Given the description of an element on the screen output the (x, y) to click on. 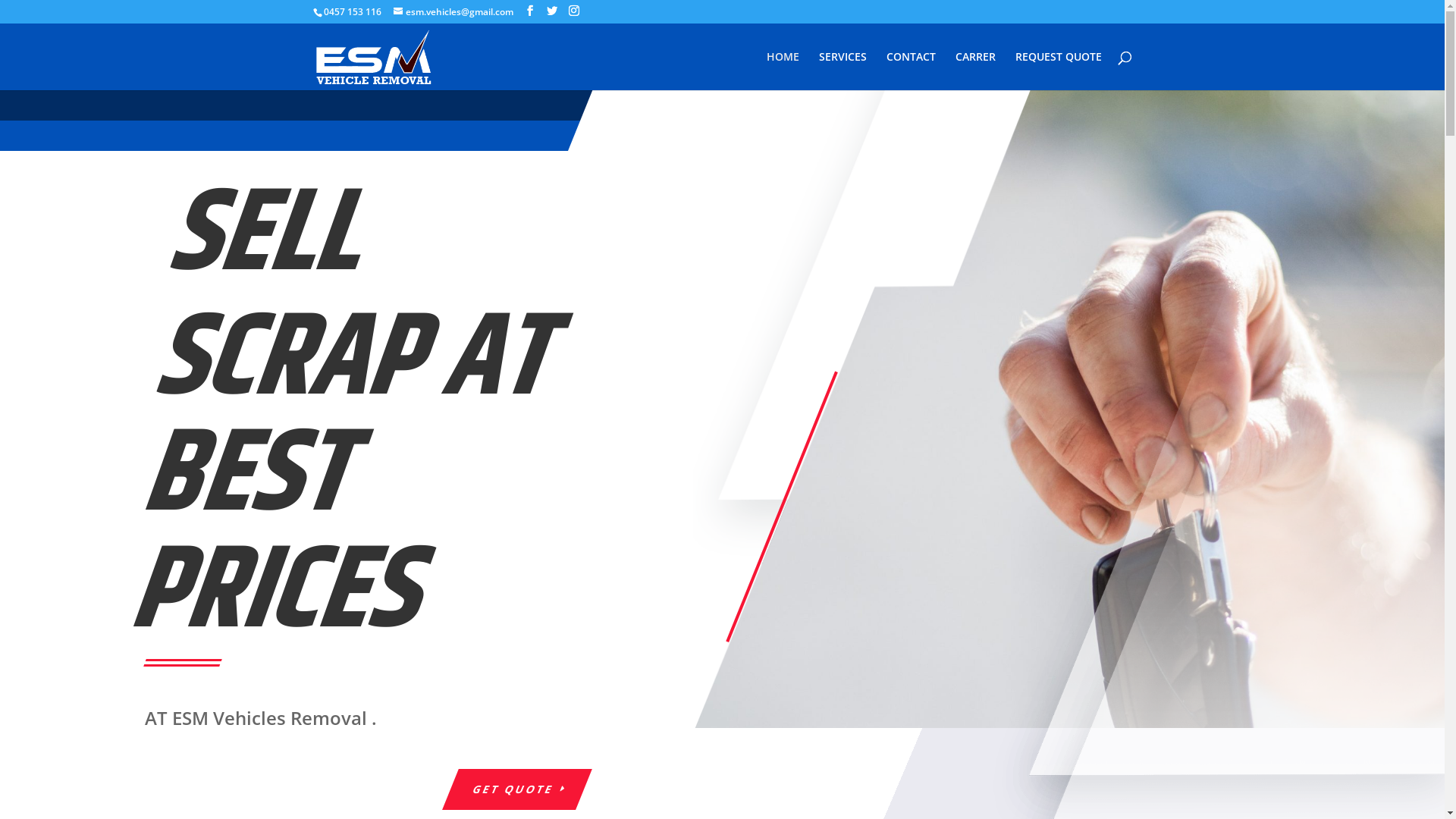
CONTACT Element type: text (910, 70)
CARRER Element type: text (975, 70)
REQUEST QUOTE Element type: text (1057, 70)
pexels-negative-space-97079 Element type: hover (1068, 409)
esm.vehicles@gmail.com Element type: text (452, 11)
HOME Element type: text (781, 70)
SERVICES Element type: text (842, 70)
GET QUOTE Element type: text (508, 788)
